Given the description of an element on the screen output the (x, y) to click on. 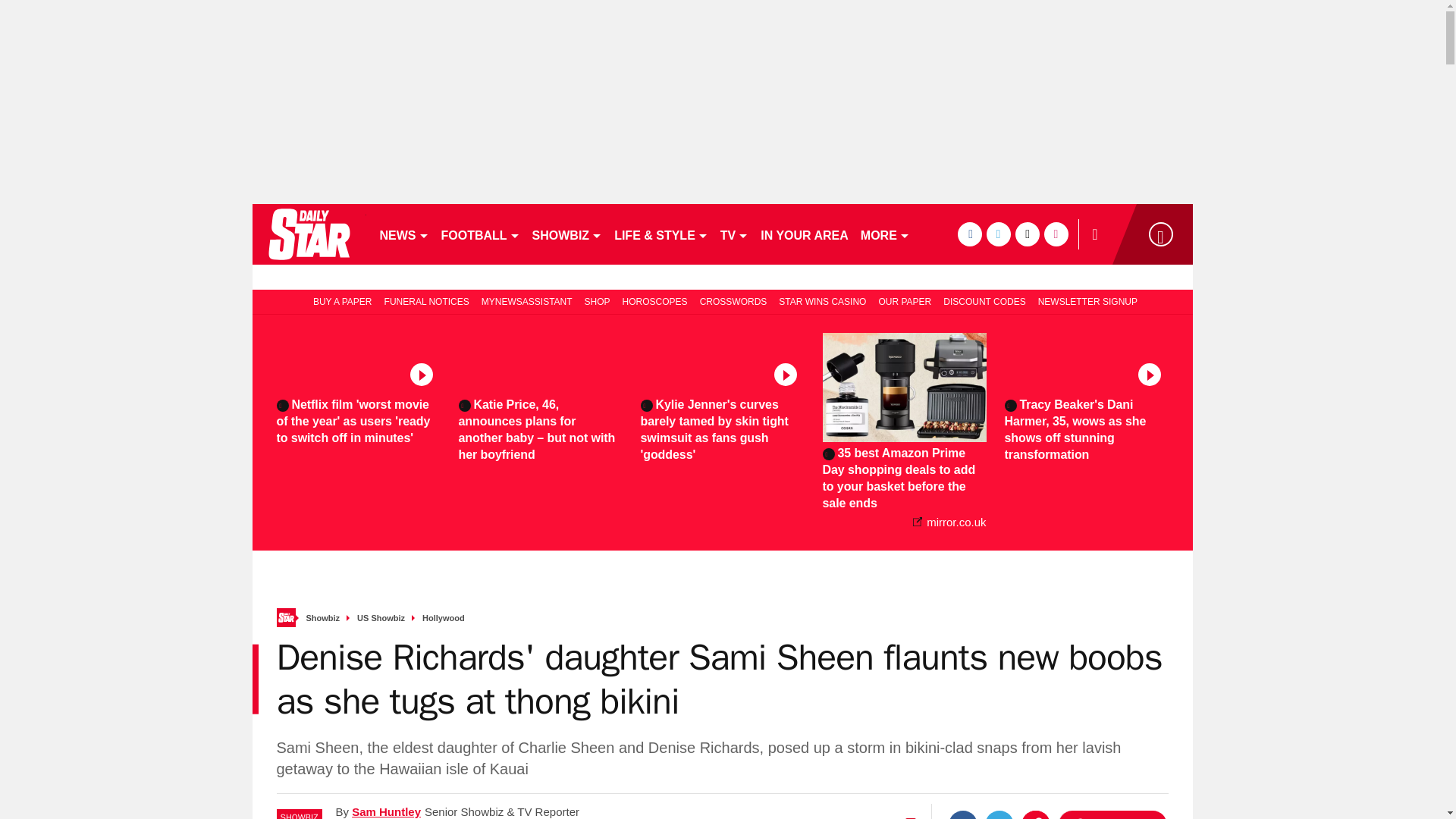
SHOWBIZ (566, 233)
NEWS (402, 233)
dailystar (308, 233)
tiktok (1026, 233)
instagram (1055, 233)
Twitter (999, 814)
facebook (968, 233)
Facebook (962, 814)
Comments (1112, 814)
FOOTBALL (480, 233)
twitter (997, 233)
